Given the description of an element on the screen output the (x, y) to click on. 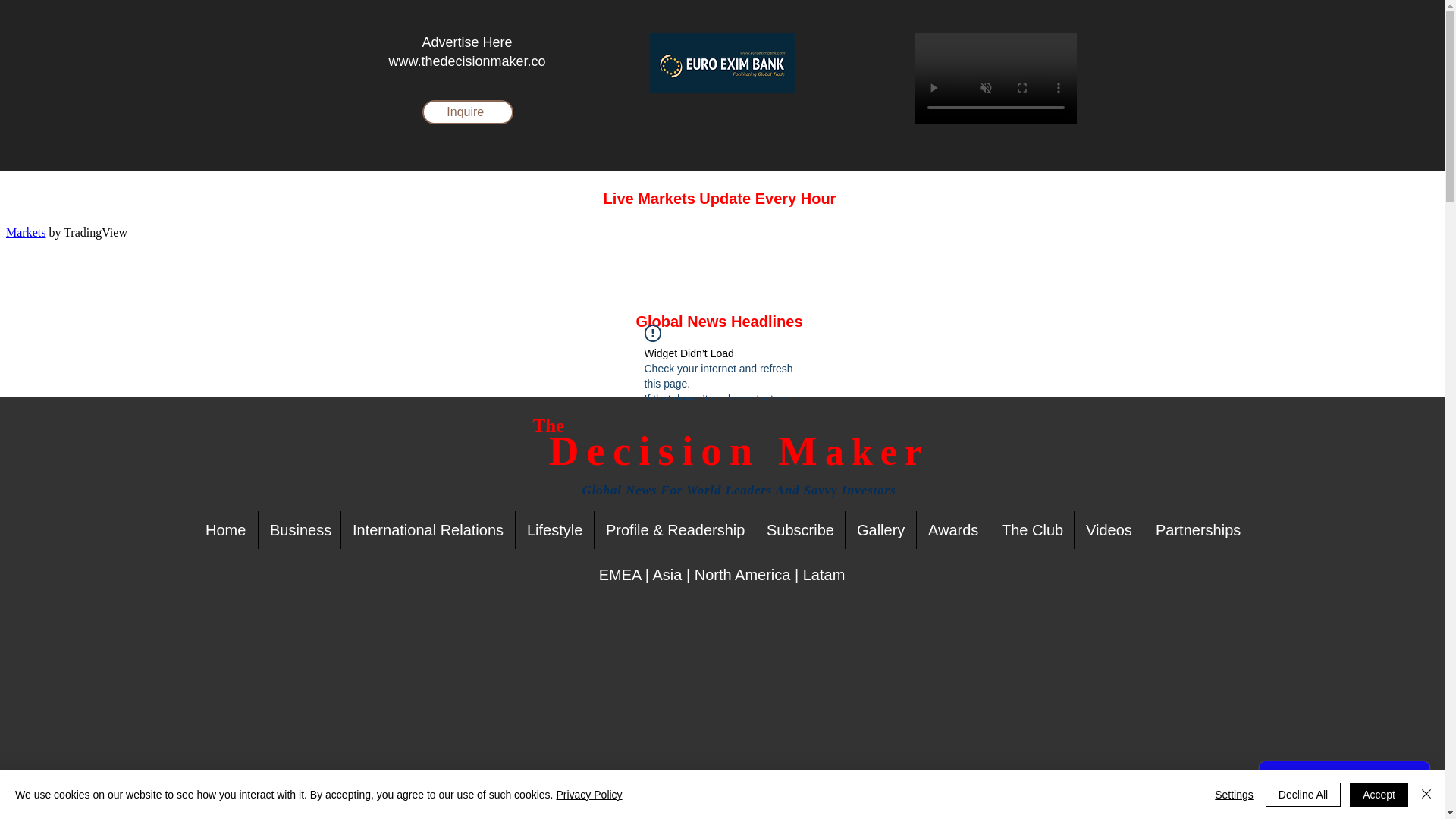
Home (225, 529)
International Relations (427, 529)
Lifestyle (554, 529)
Awards (953, 529)
Gallery (880, 529)
Inquire (467, 111)
Videos (1108, 529)
www.thedecisionmaker.co (466, 61)
Subscribe (799, 529)
The Club (1032, 529)
